Given the description of an element on the screen output the (x, y) to click on. 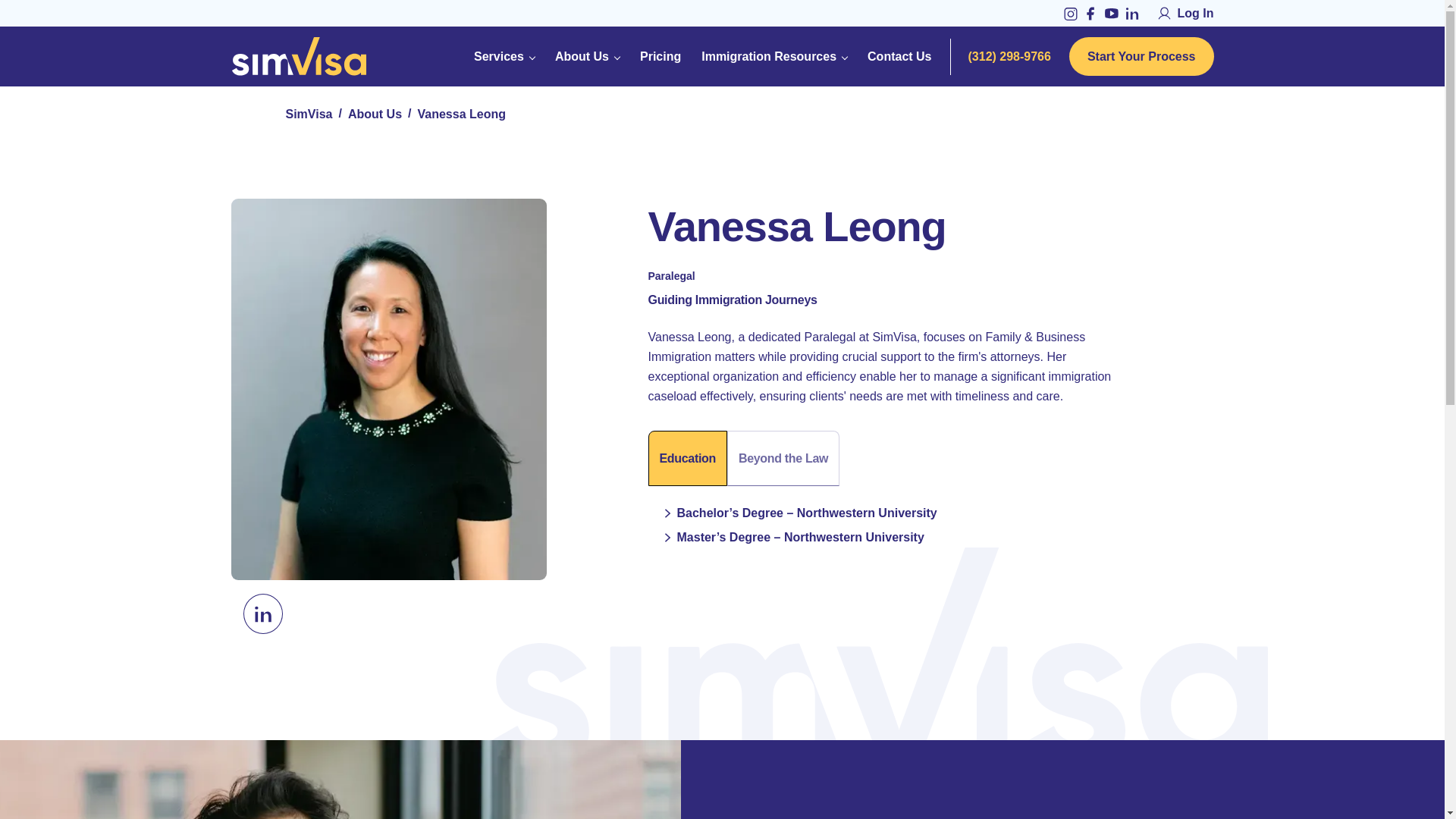
Log In (1185, 12)
